Given the description of an element on the screen output the (x, y) to click on. 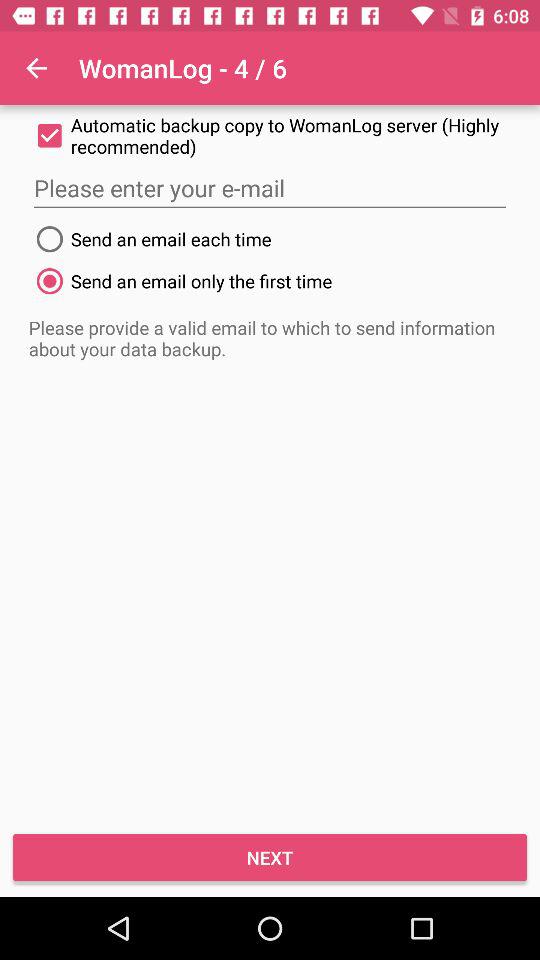
select the item above automatic backup copy (36, 68)
